Given the description of an element on the screen output the (x, y) to click on. 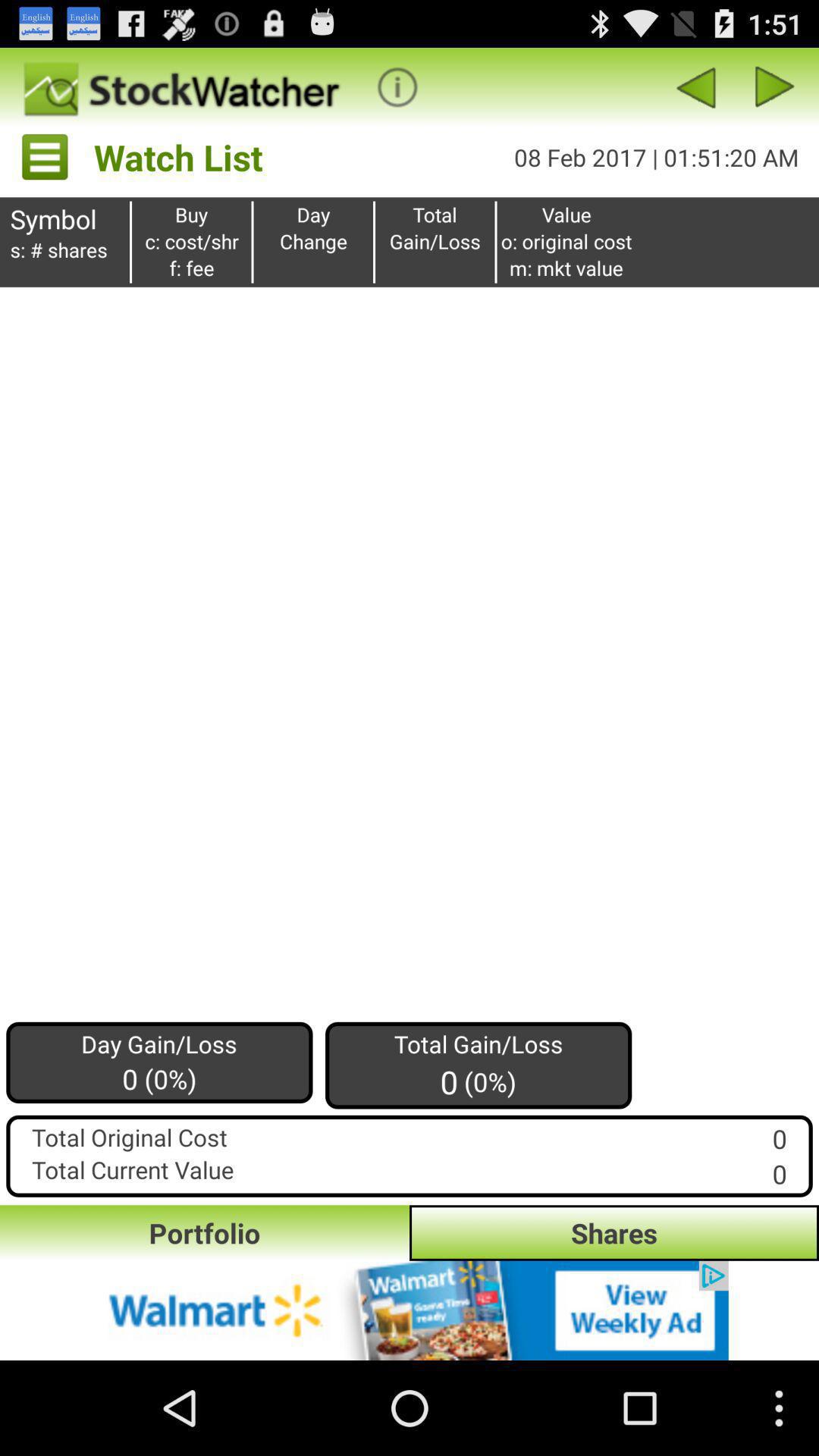
go back (695, 87)
